Given the description of an element on the screen output the (x, y) to click on. 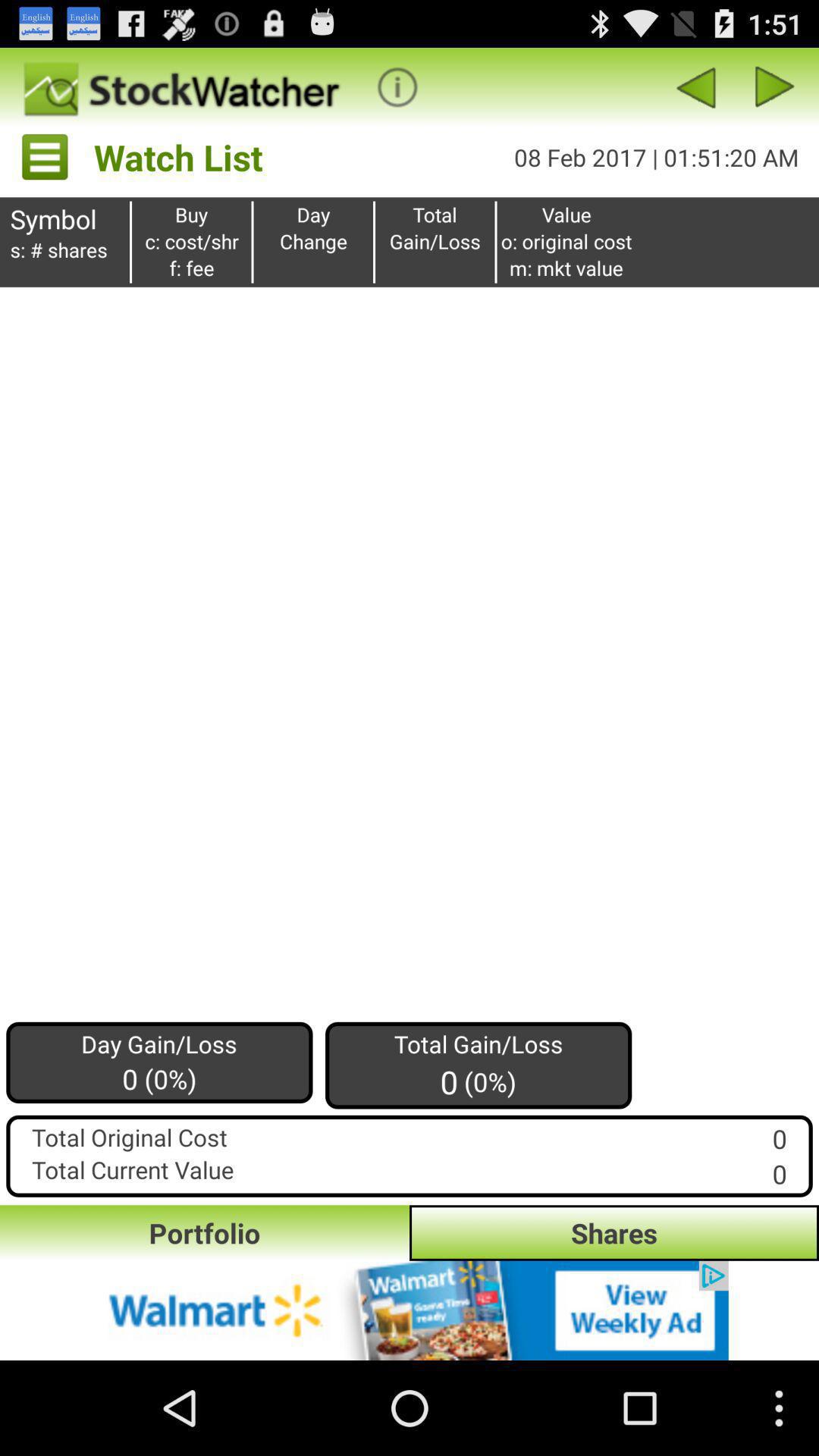
go back (695, 87)
